Given the description of an element on the screen output the (x, y) to click on. 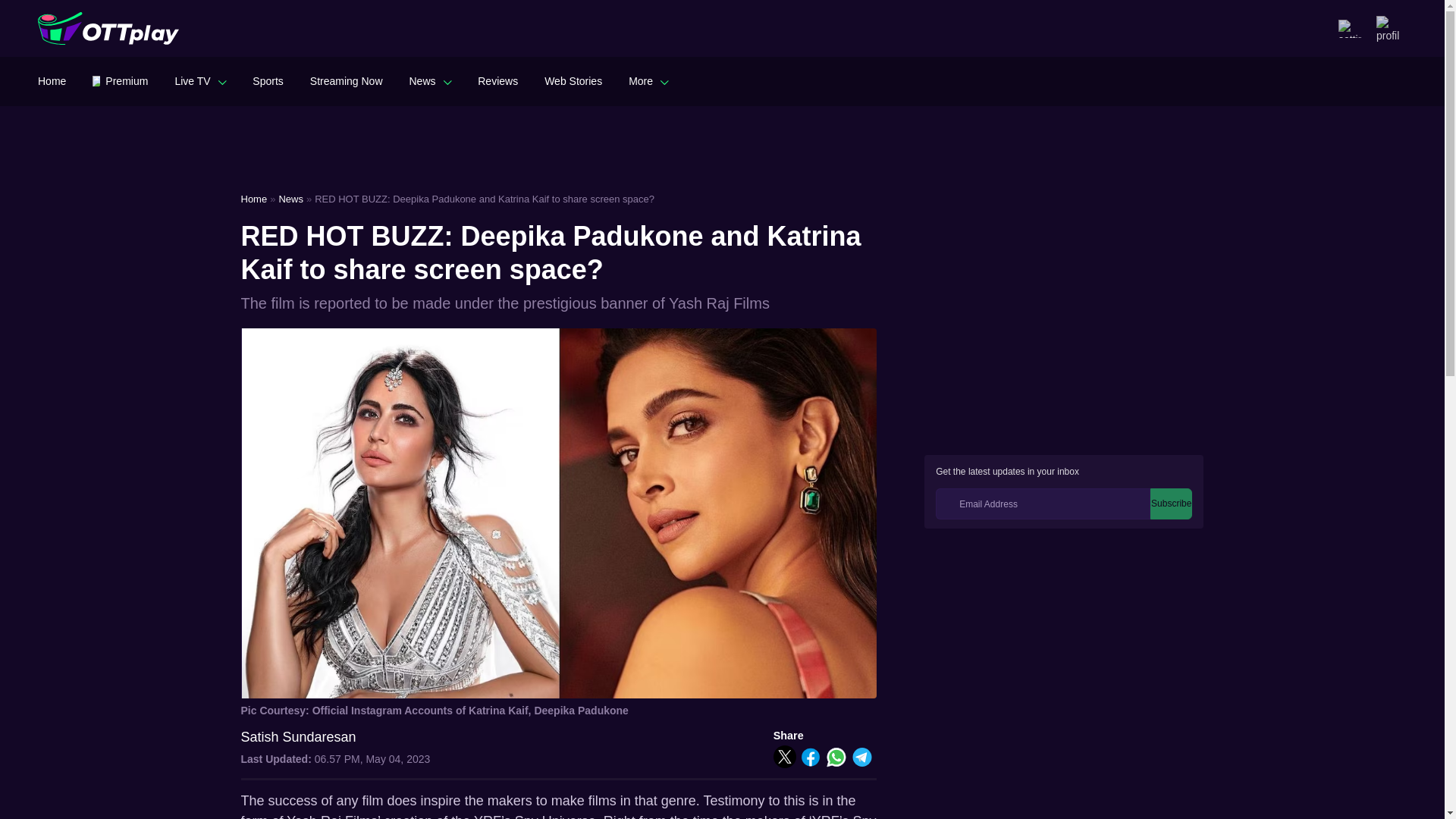
Live TV (199, 80)
Streaming Now (346, 80)
Web Stories (573, 80)
Premium (120, 80)
News (430, 80)
